Given the description of an element on the screen output the (x, y) to click on. 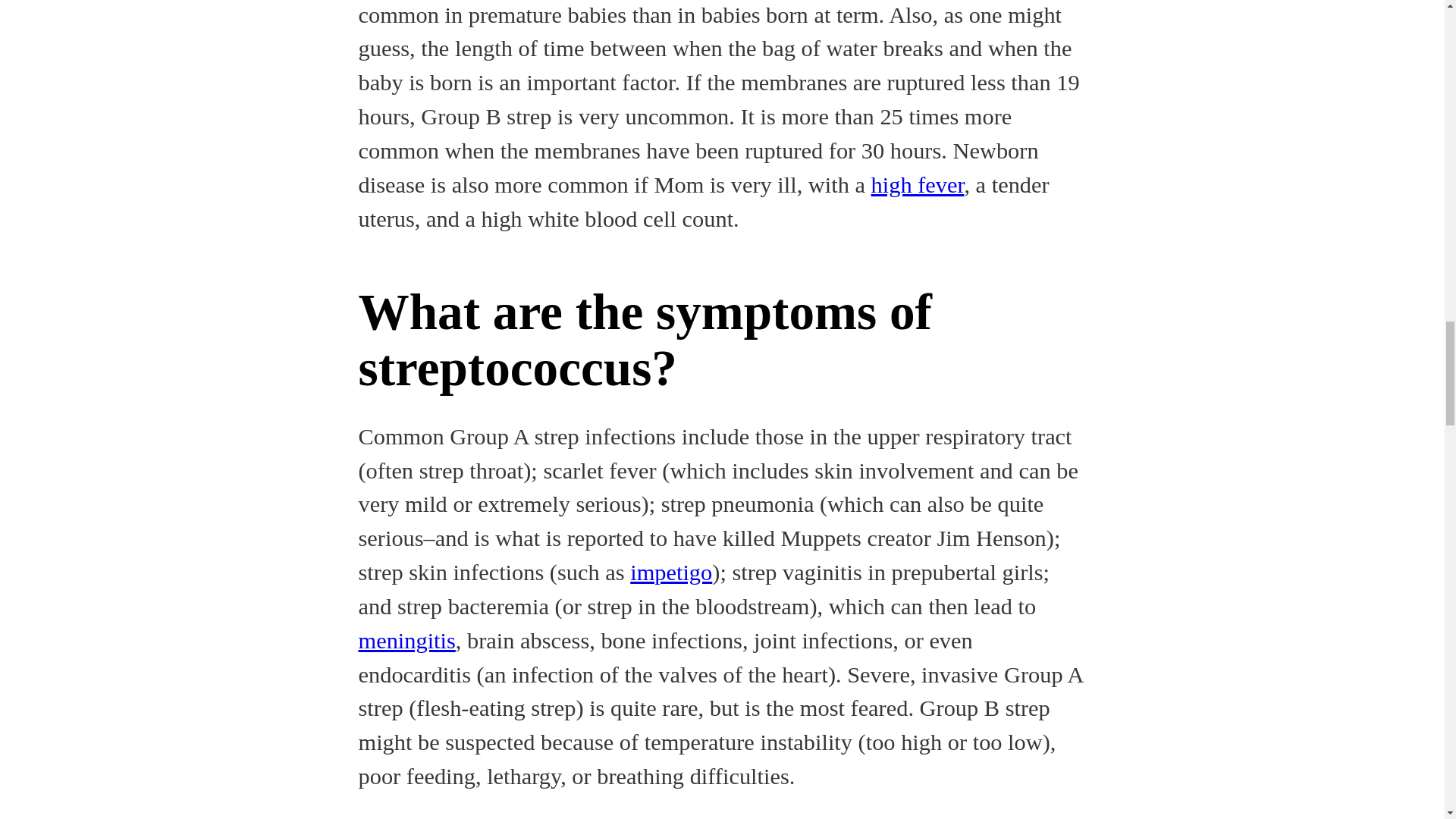
meningitis (406, 640)
impetigo (670, 572)
high fever (916, 184)
